Given the description of an element on the screen output the (x, y) to click on. 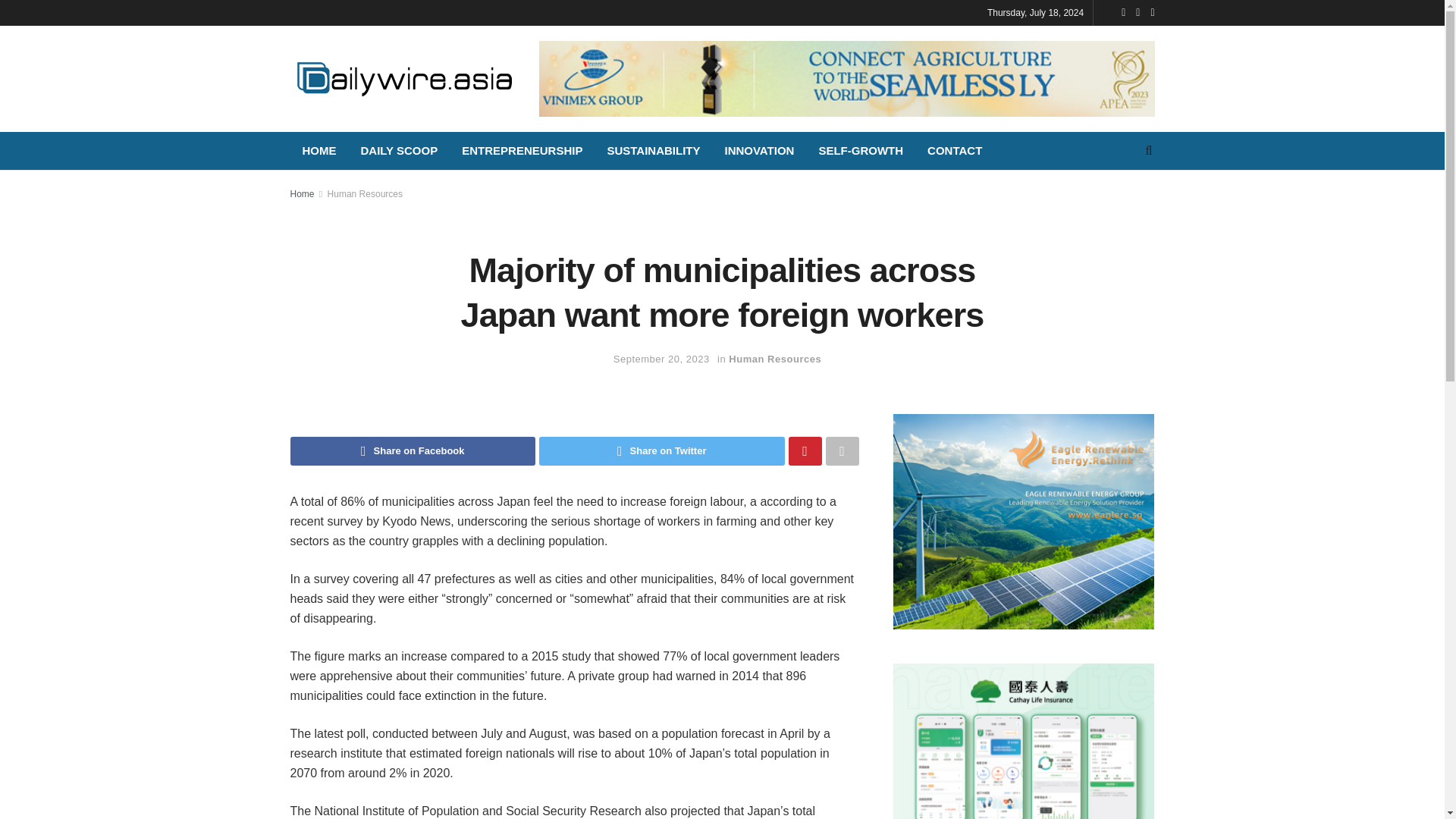
DAILY SCOOP (399, 150)
Share on Twitter (661, 451)
ENTREPRENEURSHIP (521, 150)
Home (301, 194)
INNOVATION (758, 150)
HOME (318, 150)
September 20, 2023 (661, 358)
CONTACT (954, 150)
Human Resources (775, 358)
Human Resources (365, 194)
Share on Facebook (412, 451)
SELF-GROWTH (860, 150)
SUSTAINABILITY (652, 150)
